Given the description of an element on the screen output the (x, y) to click on. 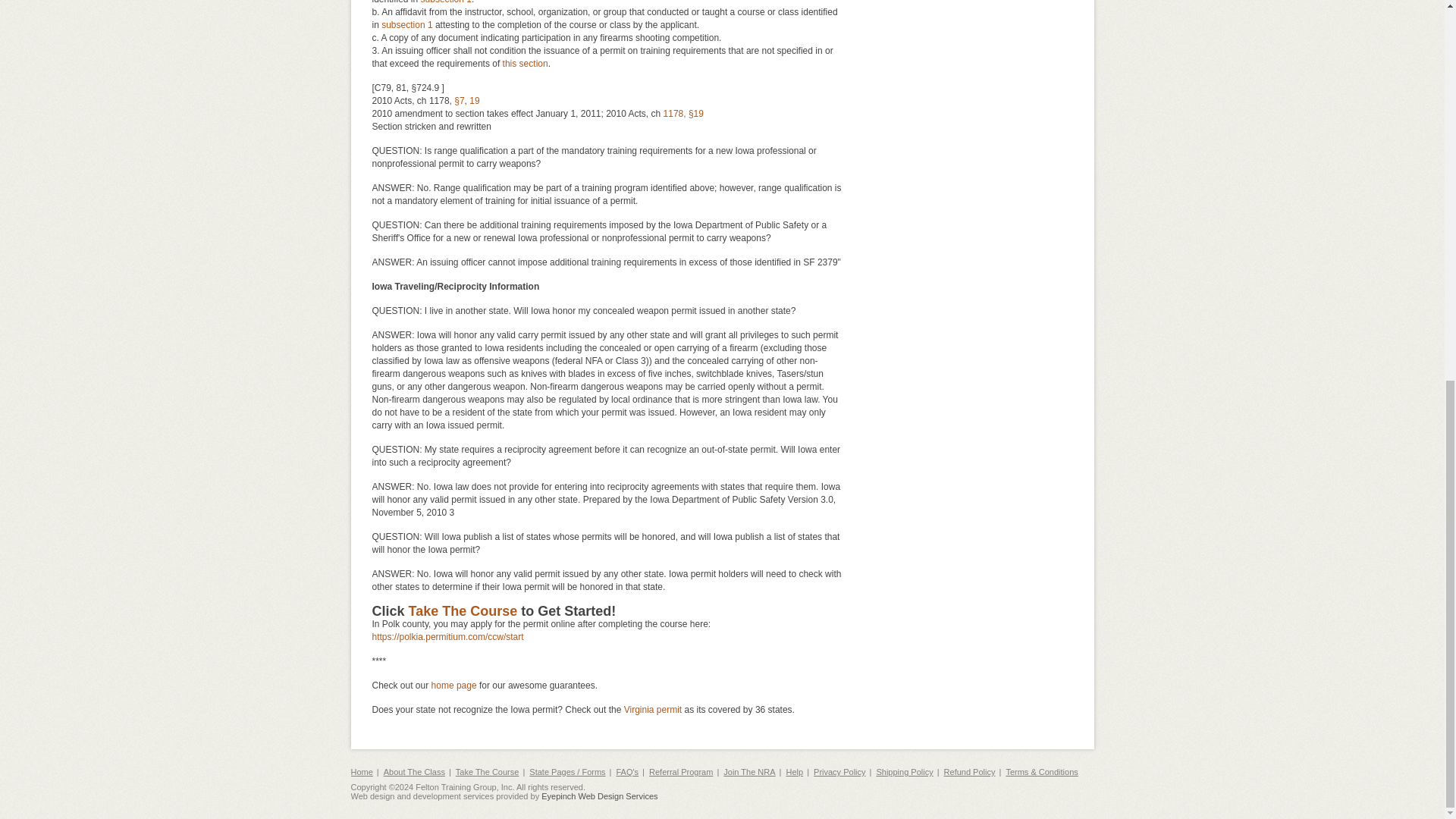
Take The Course (463, 611)
subsection 1 (445, 2)
this section (525, 63)
home page (453, 685)
subsection 1 (406, 24)
19 (473, 100)
Virginia permit (652, 709)
